Given the description of an element on the screen output the (x, y) to click on. 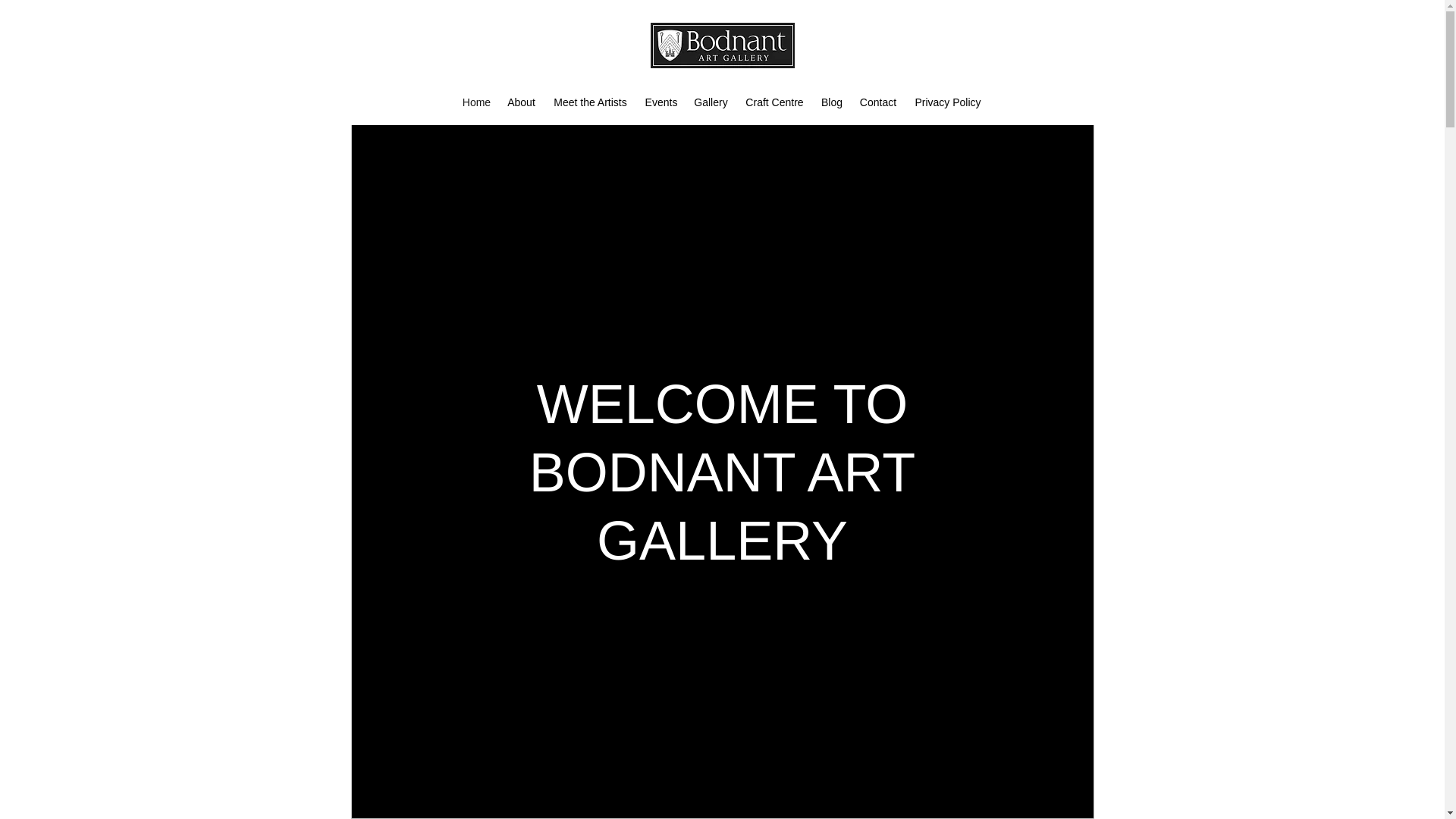
Craft Centre (774, 101)
Events (661, 101)
Blog (831, 101)
Gallery (710, 101)
Meet the Artists (590, 101)
Privacy Policy (947, 101)
About (521, 101)
Contact (877, 101)
Home (476, 101)
